Given the description of an element on the screen output the (x, y) to click on. 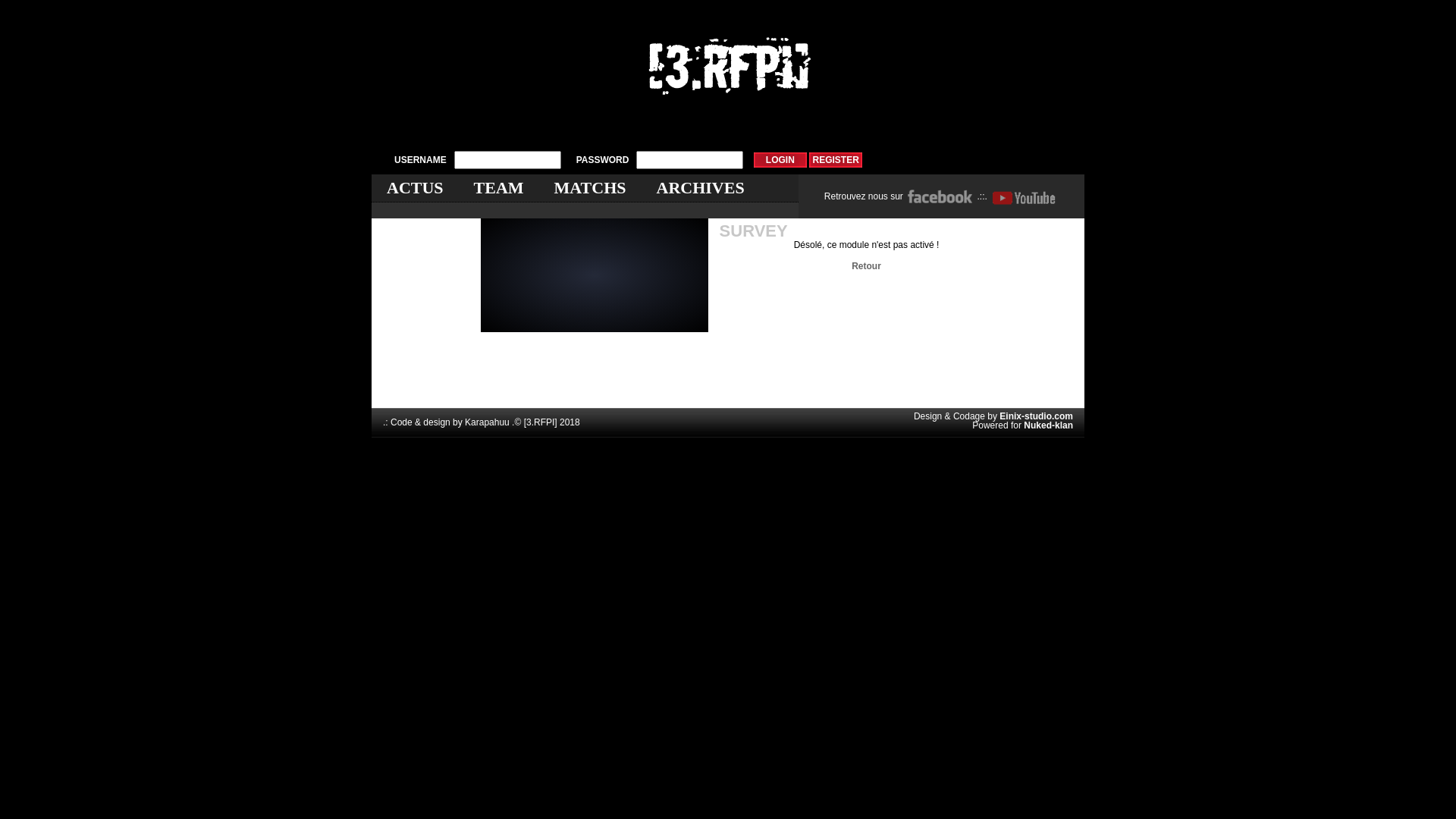
TEAM Element type: text (498, 187)
ACTUS Element type: text (414, 187)
Einix-studio.com Element type: text (1036, 416)
login Element type: text (779, 159)
Retour Element type: text (866, 265)
Nuked-klan Element type: text (1048, 425)
MATCHS Element type: text (590, 187)
